Given the description of an element on the screen output the (x, y) to click on. 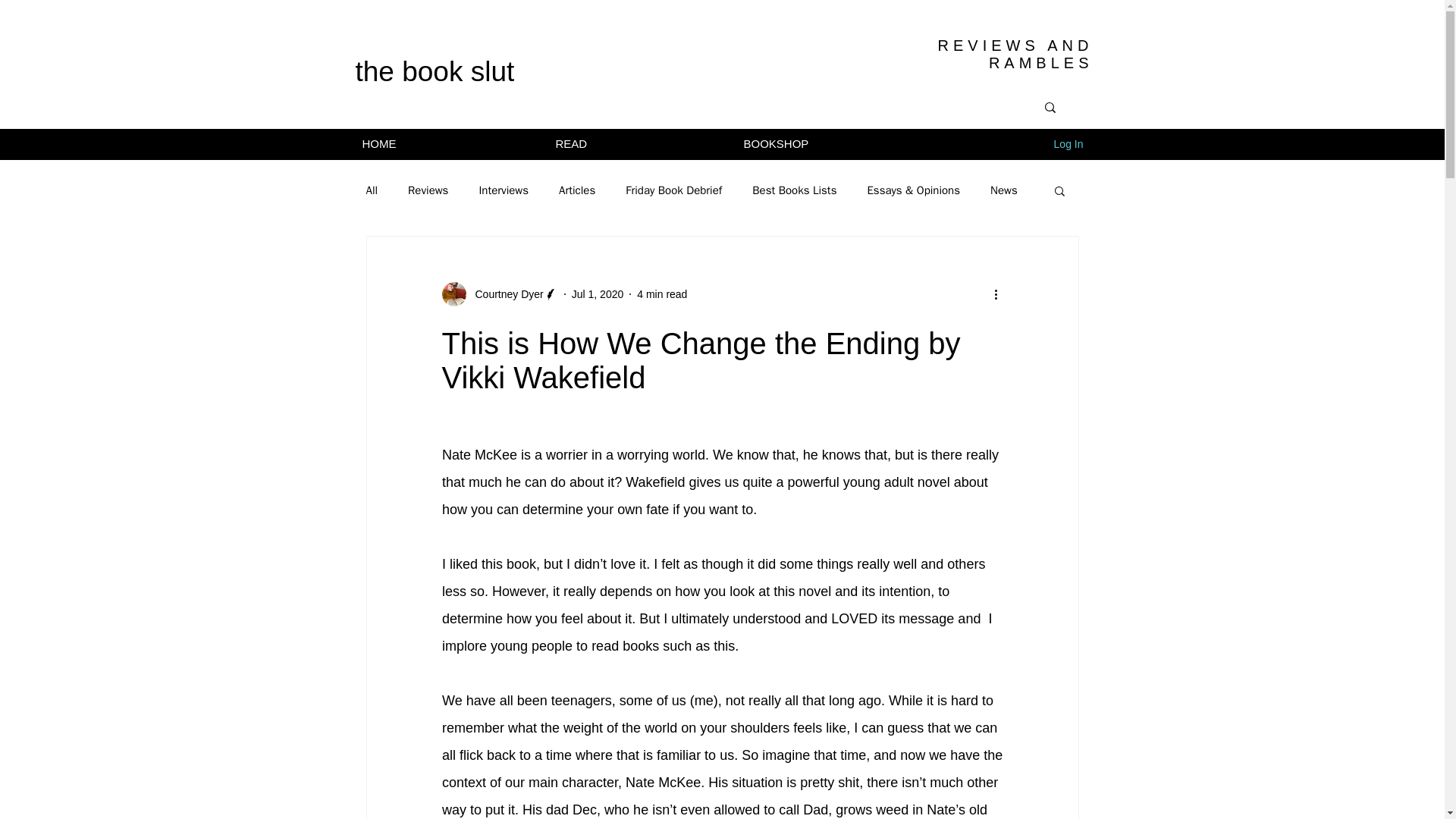
Jul 1, 2020 (598, 294)
REVIEWS AND RAMBLES (1015, 53)
BOOKSHOP (843, 144)
Articles (577, 190)
Interviews (503, 190)
Log In (1068, 144)
Reviews (427, 190)
Friday Book Debrief (674, 190)
4 min read (662, 294)
HOME (446, 144)
READ (638, 144)
Courtney Dyer (504, 294)
Best Books Lists (793, 190)
News (1003, 190)
Courtney Dyer (499, 293)
